Given the description of an element on the screen output the (x, y) to click on. 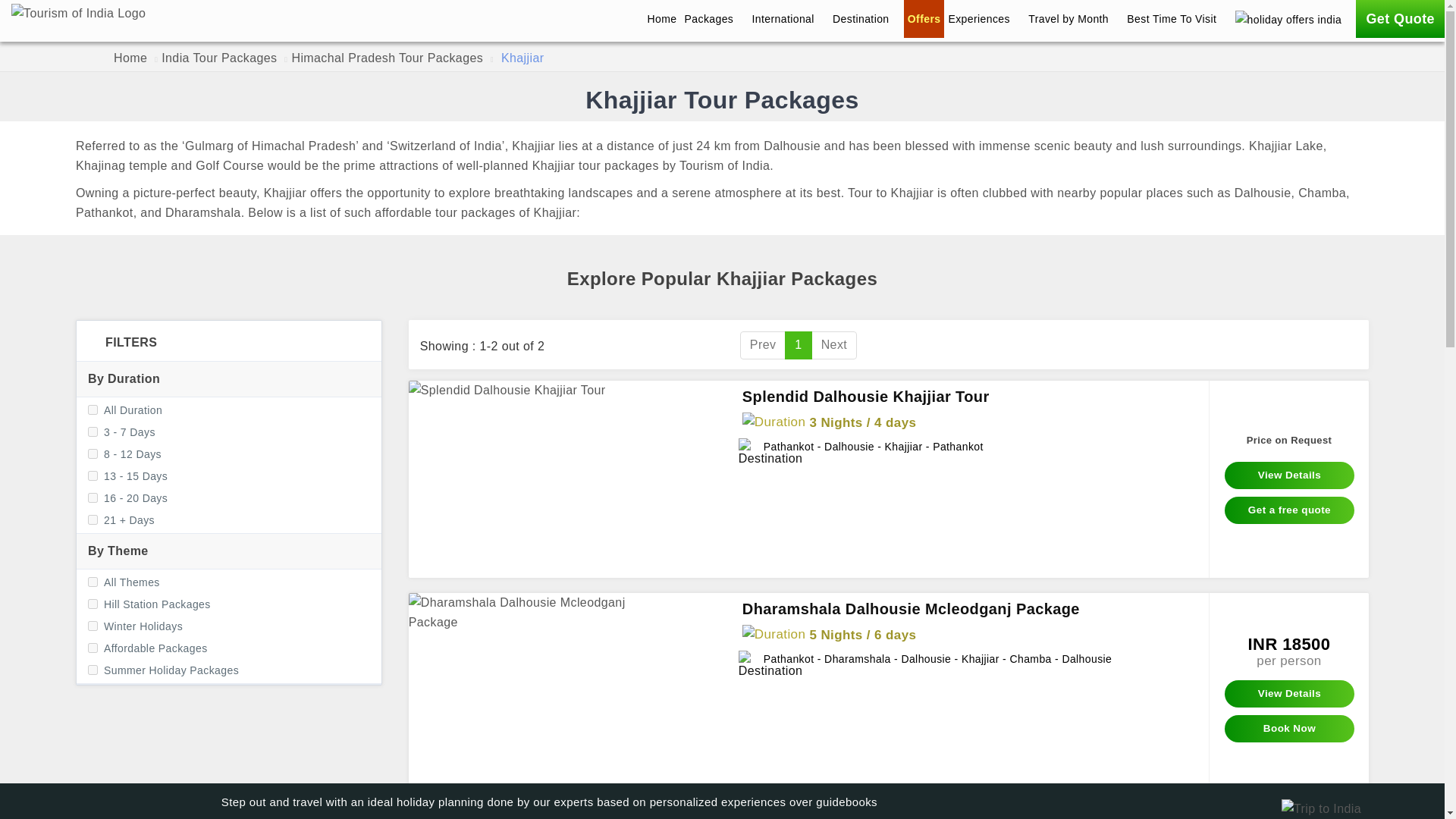
78 (92, 625)
91 (92, 647)
2 (92, 453)
85 (92, 669)
5 (92, 519)
6 (92, 603)
Packages (714, 18)
1 (92, 431)
3 (92, 475)
International (788, 18)
